Given the description of an element on the screen output the (x, y) to click on. 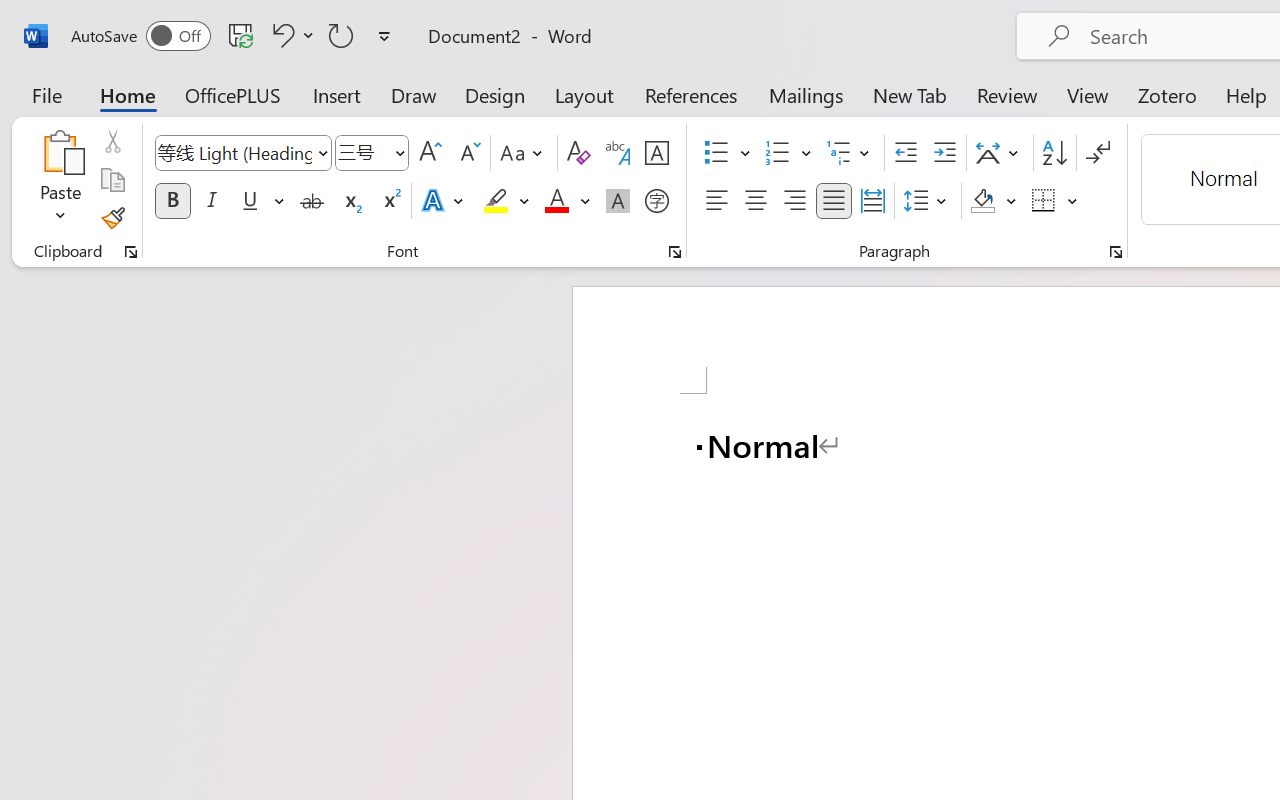
AutoSave (140, 35)
Layout (584, 94)
